Given the description of an element on the screen output the (x, y) to click on. 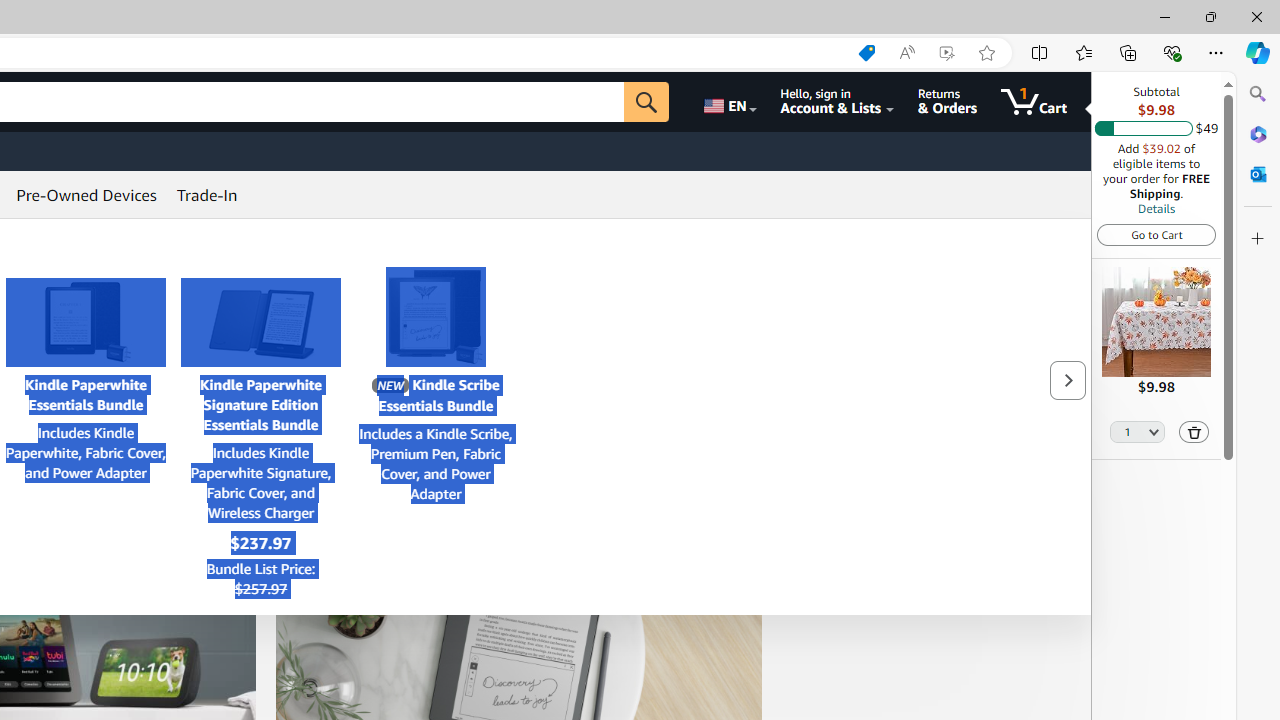
Pre-Owned Devices (86, 194)
Kindle Paperwhite Essentials Bundle (86, 322)
Returns & Orders (946, 101)
Details (1156, 208)
Pre-Owned Devices (86, 194)
Trade-In (207, 194)
1 item in cart (1034, 101)
Go to Cart (1156, 234)
Hello, sign in Account & Lists (836, 101)
Trade-In (207, 194)
